Given the description of an element on the screen output the (x, y) to click on. 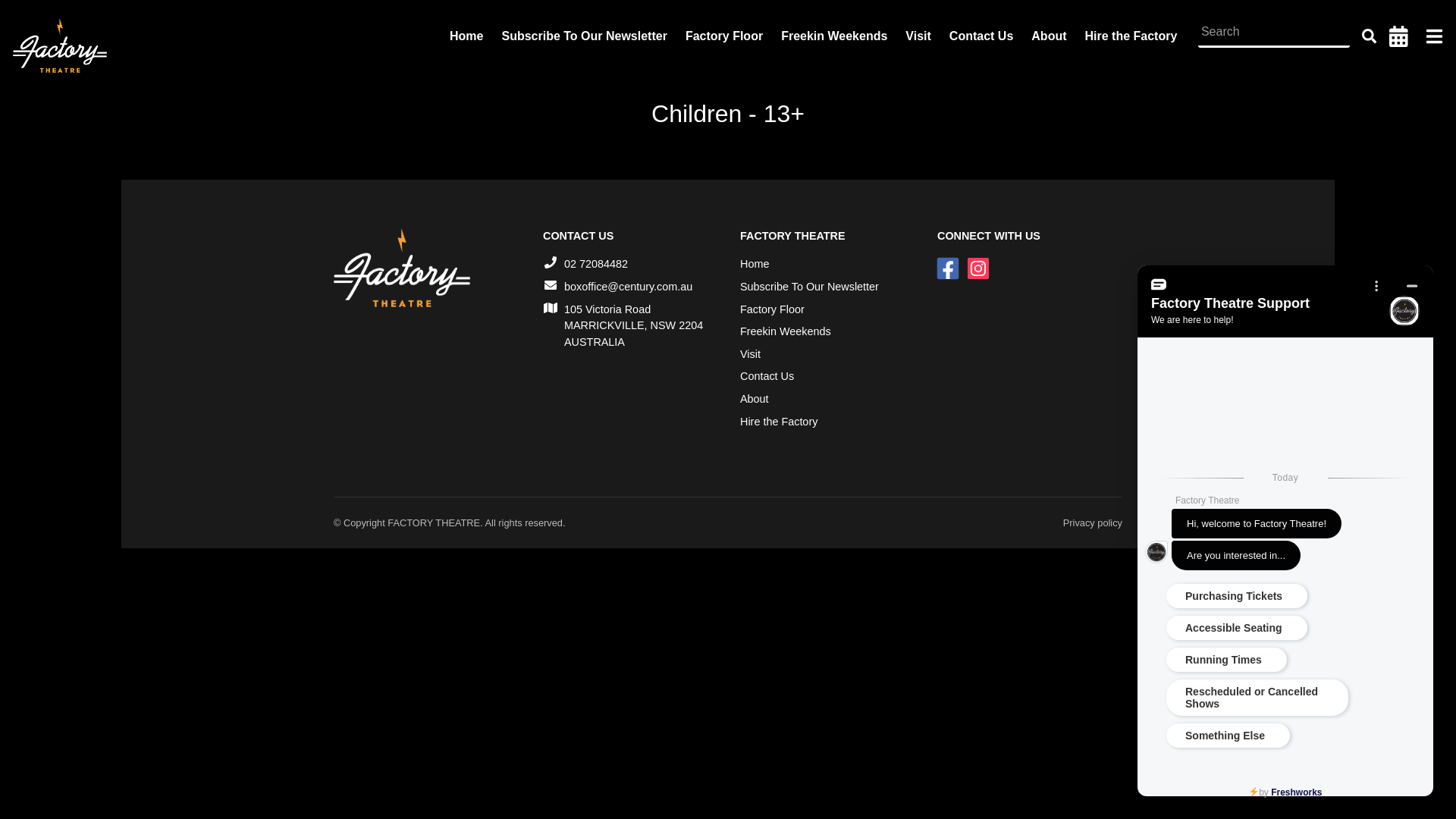
by Freshworks Element type: text (1284, 792)
Factory Floor Element type: text (772, 309)
Freekin Weekends Element type: text (834, 36)
Subscribe To Our Newsletter Element type: text (809, 287)
About Element type: text (754, 399)
Privacy policy Element type: text (1092, 522)
Subscribe To Our Newsletter Element type: text (583, 36)
Minimize Element type: hover (1411, 283)
Hire the Factory Element type: text (778, 422)
Contact Us Element type: text (981, 36)
Visit Element type: text (750, 354)
Factory Floor Element type: text (723, 36)
boxoffice@century.com.au Element type: text (628, 286)
Home Element type: text (754, 264)
Freekin Weekends Element type: text (785, 331)
Visit Element type: text (918, 36)
Contact Us Element type: text (766, 376)
About Element type: text (1048, 36)
MENU Element type: hover (1376, 283)
Hire the Factory Element type: text (1130, 36)
Home Element type: text (466, 36)
